Given the description of an element on the screen output the (x, y) to click on. 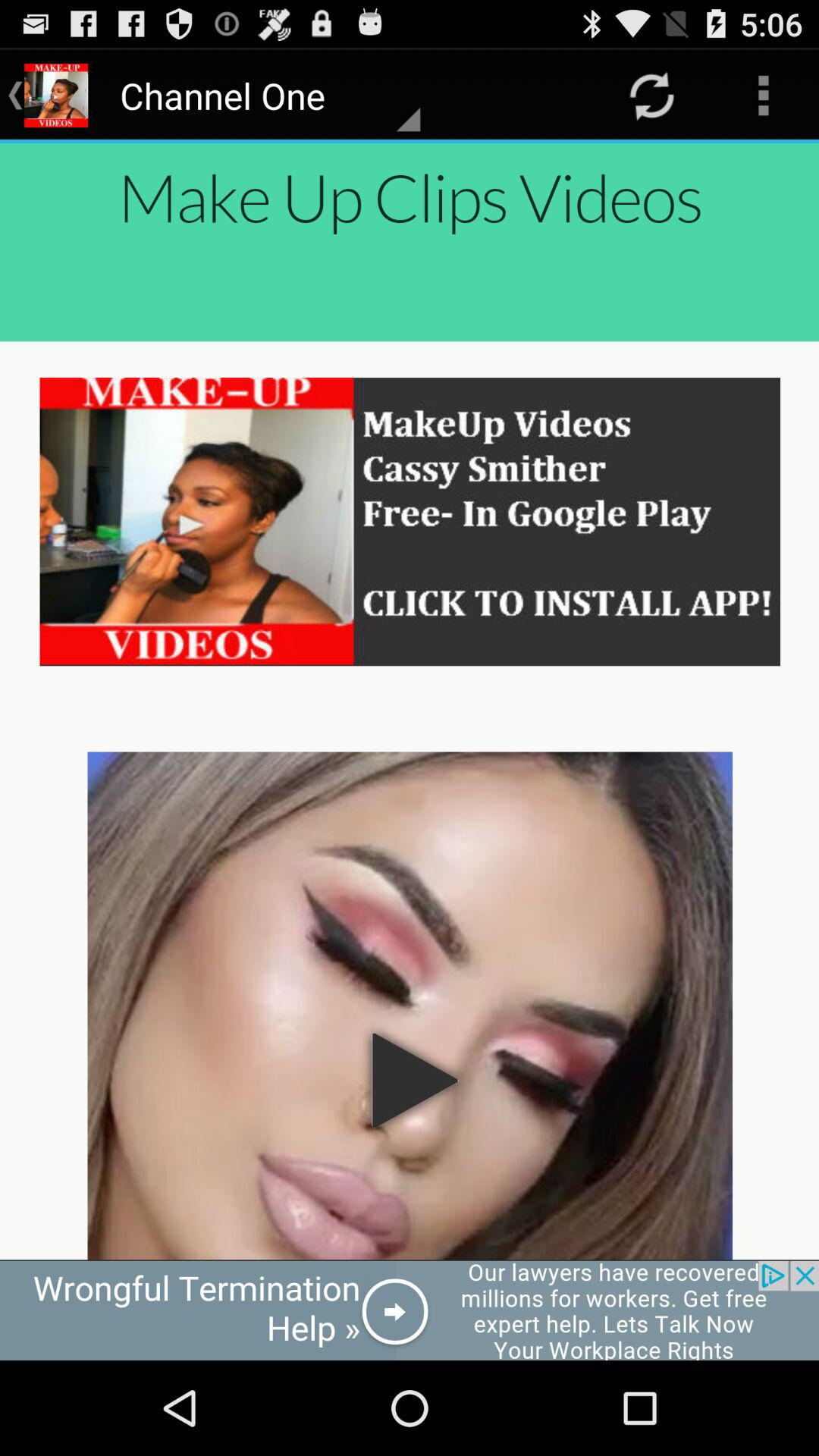
open advertisement (409, 1310)
